Given the description of an element on the screen output the (x, y) to click on. 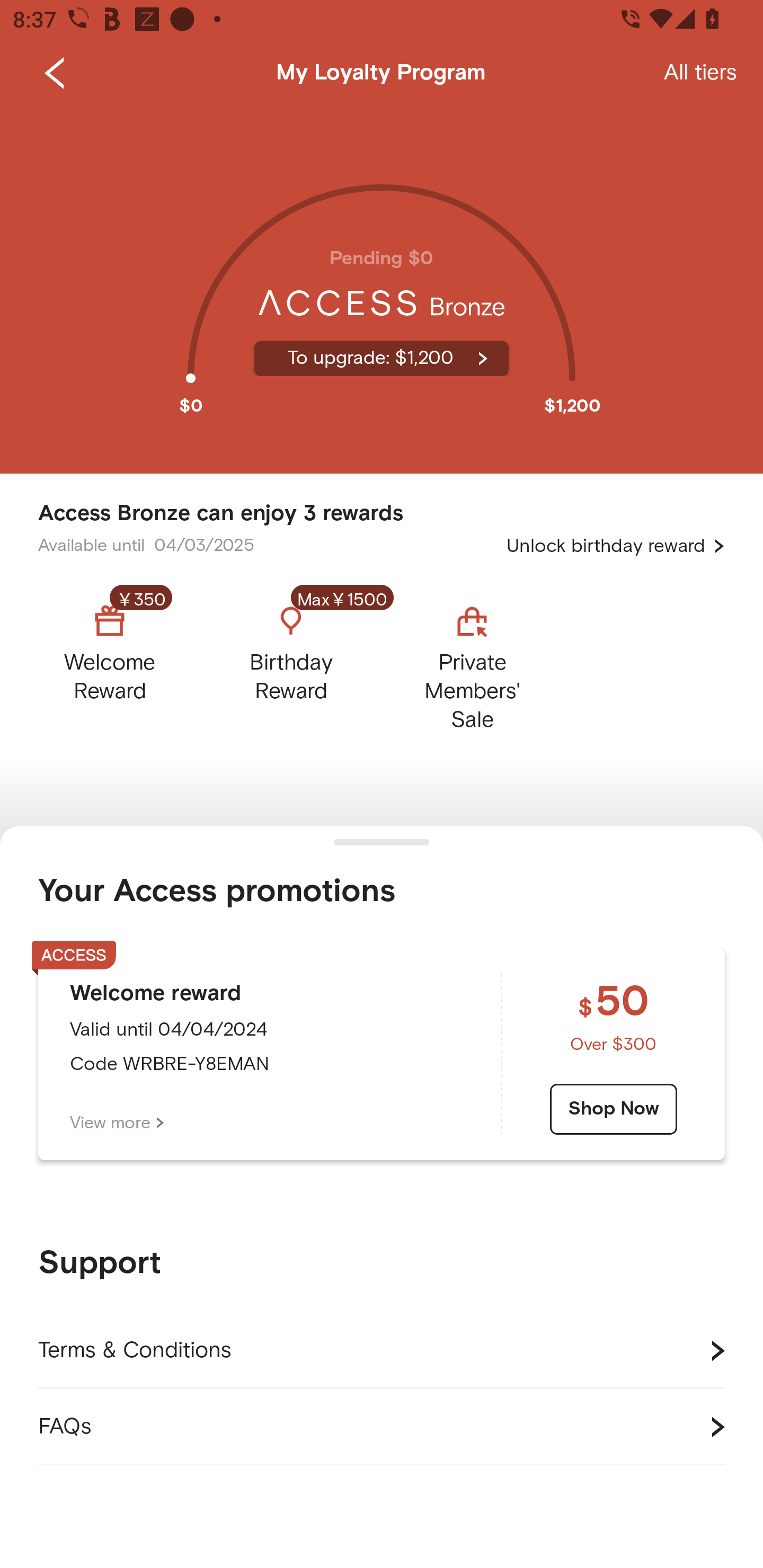
All tiers (700, 72)
Pending $0 To upgrade: $1,200 $0 $1,200 (381, 290)
Unlock birthday reward (615, 546)
￥350 Welcome Reward (125, 662)
Max￥1500 Birthday Reward (290, 662)
Private Members' Sale (471, 662)
Shop Now (613, 1109)
View more (117, 1123)
Terms & Conditions (381, 1350)
FAQs (381, 1426)
